Given the description of an element on the screen output the (x, y) to click on. 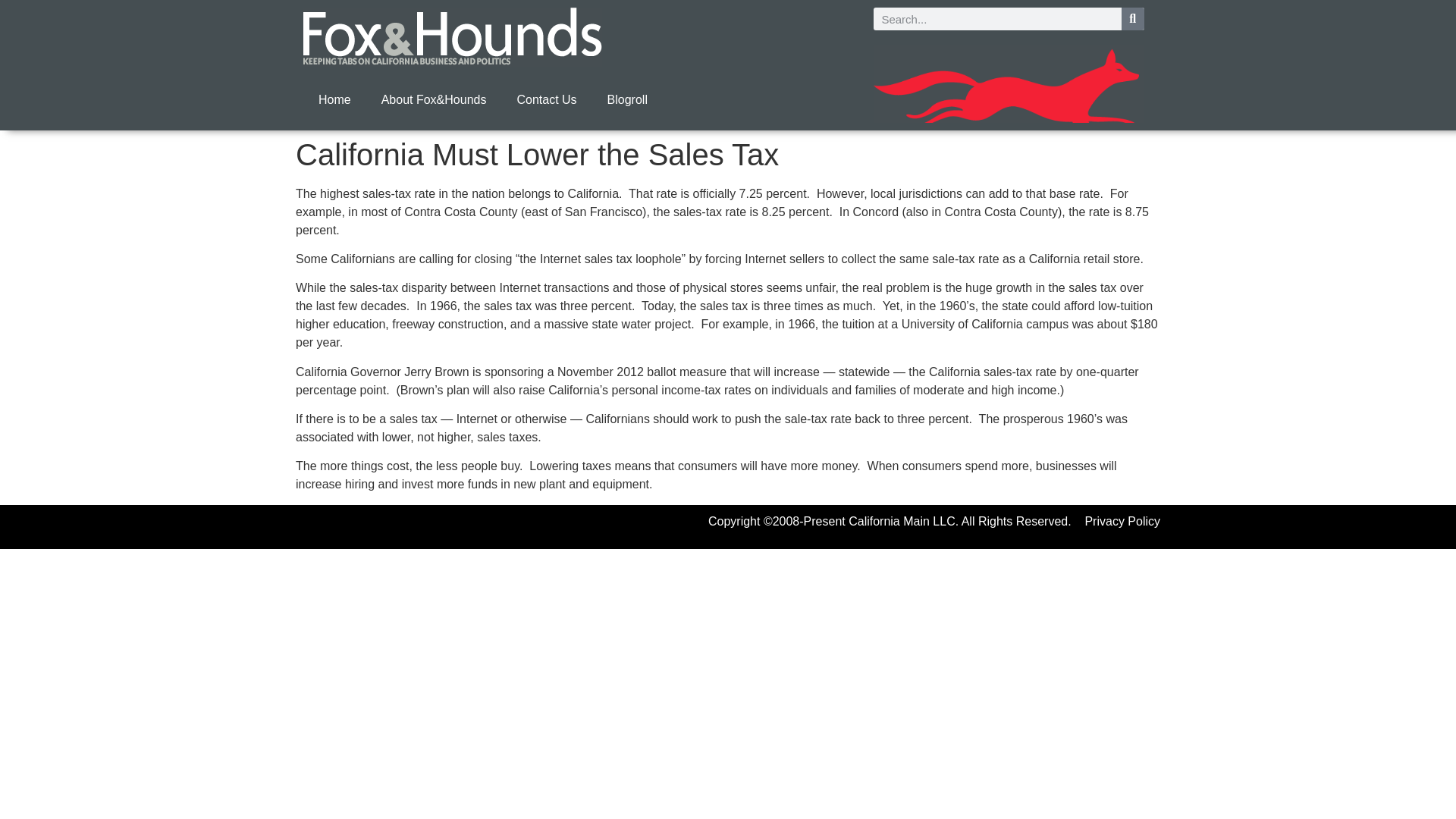
Home (334, 99)
Blogroll (627, 99)
Privacy Policy (1122, 521)
Contact Us (545, 99)
